Given the description of an element on the screen output the (x, y) to click on. 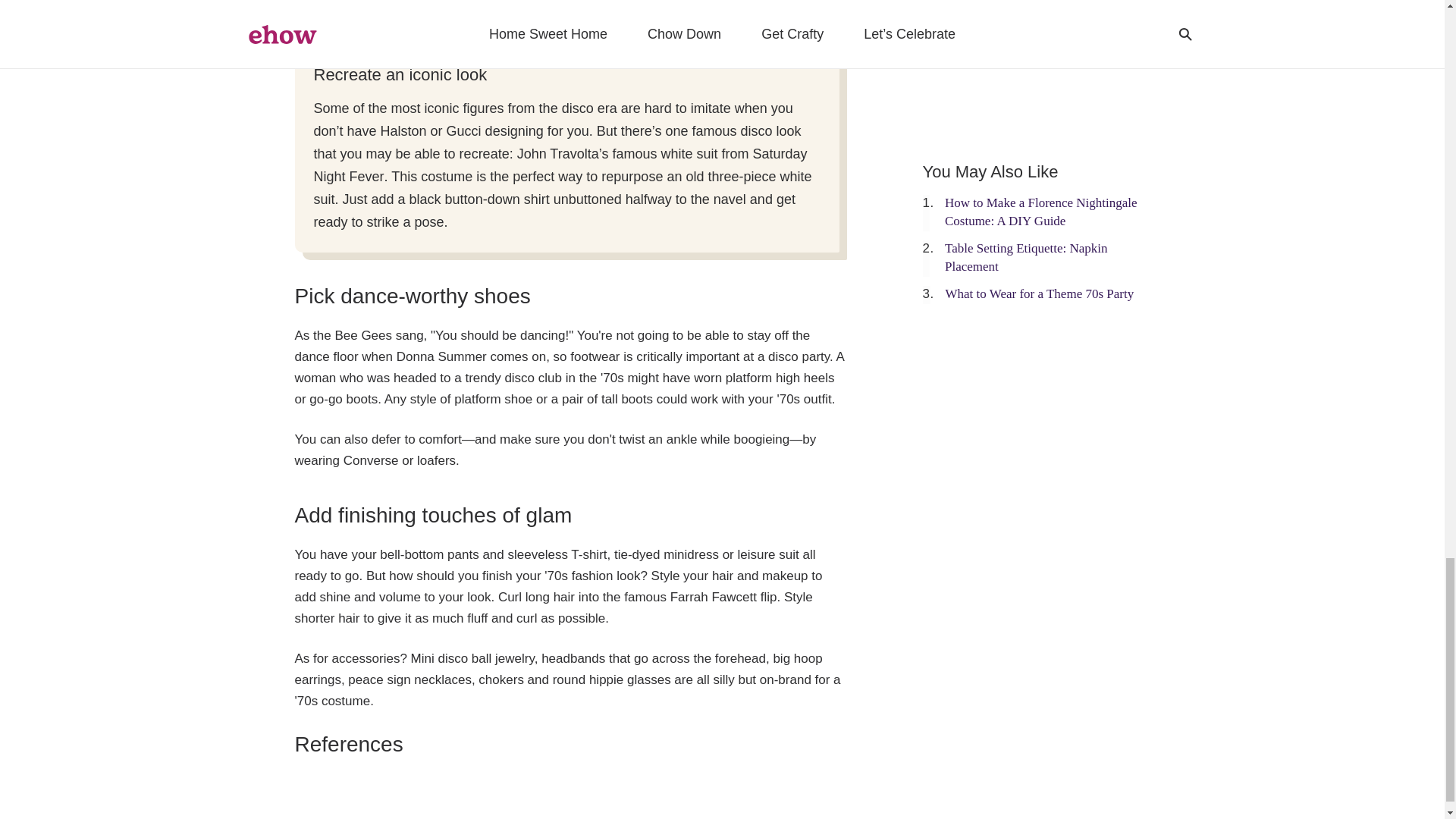
What to Wear for a Theme 70s Party (1039, 293)
Table Setting Etiquette: Napkin Placement (1026, 256)
How to Make a Florence Nightingale Costume: A DIY Guide (1040, 211)
